Given the description of an element on the screen output the (x, y) to click on. 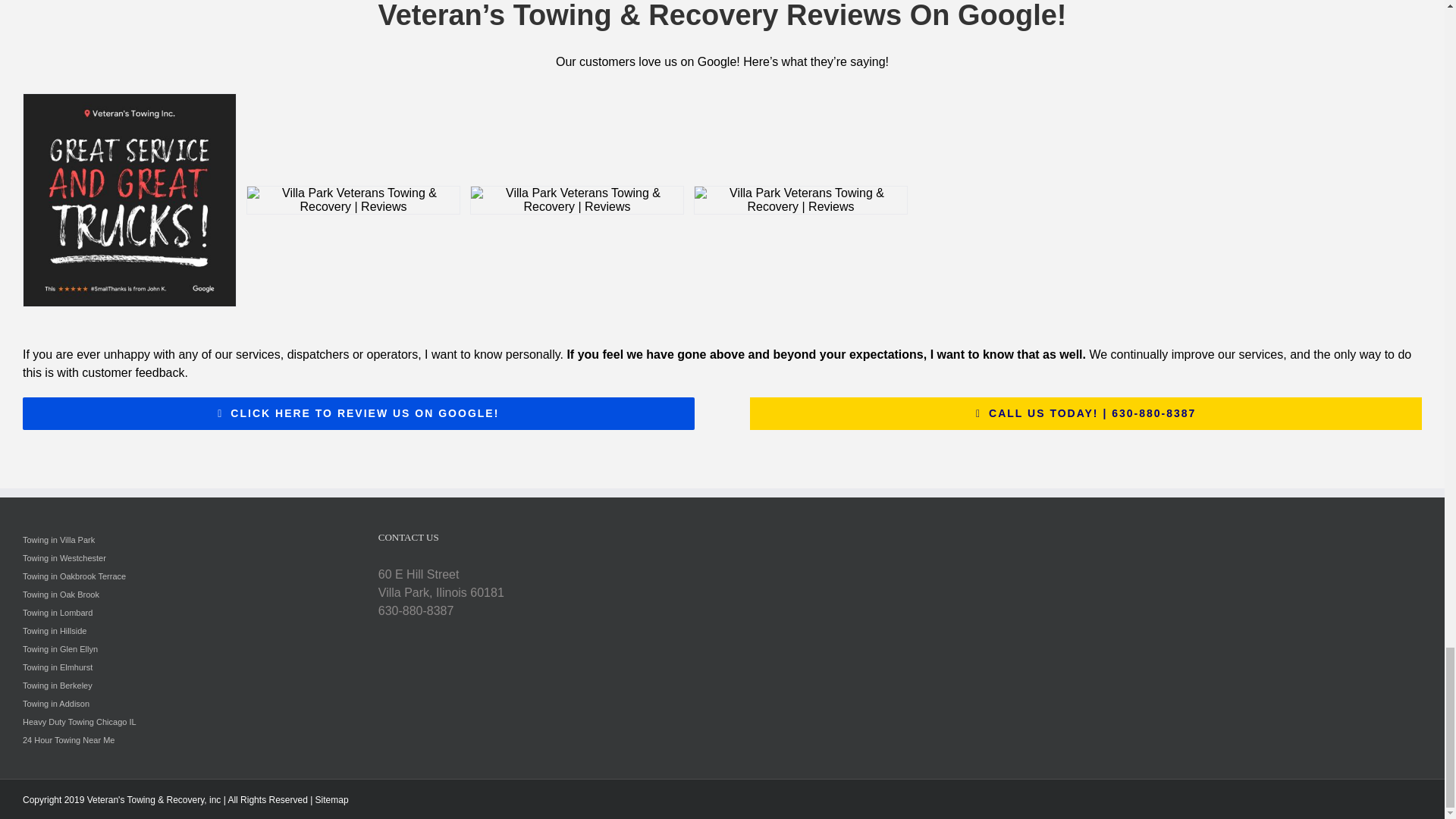
Towing in Elmhurst (58, 666)
Towing in Westchester (64, 557)
Towing in Glen Ellyn (60, 648)
Sitemap (332, 799)
Towing in Berkeley (58, 685)
CLICK HERE TO REVIEW US ON GOOGLE! (358, 413)
Towing in Lombard (58, 612)
Towing in Villa Park (58, 539)
Heavy Duty Towing Chicago IL (79, 721)
24 Hour Towing Near Me (69, 739)
Towing in Addison (55, 703)
Towing in Oakbrook Terrace (74, 575)
Towing in Hillside (54, 630)
Towing in Oak Brook (61, 593)
CLICK HERE TO REVIEW US ON GOOGLE! (358, 413)
